Given the description of an element on the screen output the (x, y) to click on. 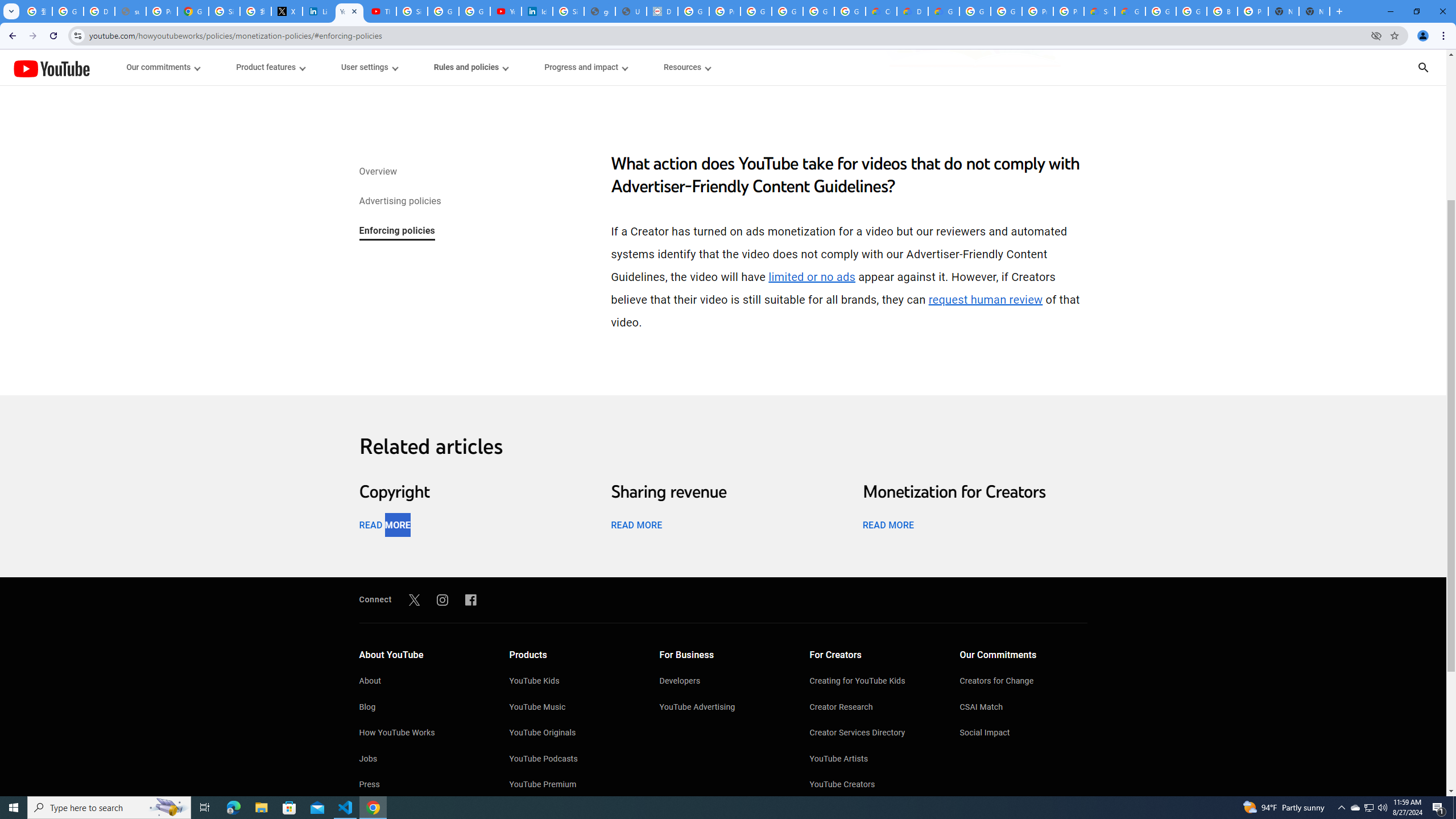
Product features menupopup (269, 67)
Twitter (413, 599)
User settings menupopup (368, 67)
How YouTube Works (422, 733)
Blog (422, 708)
Google Cloud Service Health (1129, 11)
Rules and policies menupopup (470, 67)
YouTube Content Monetization Policies - How YouTube Works (349, 11)
Creating for YouTube Kids (873, 682)
